Given the description of an element on the screen output the (x, y) to click on. 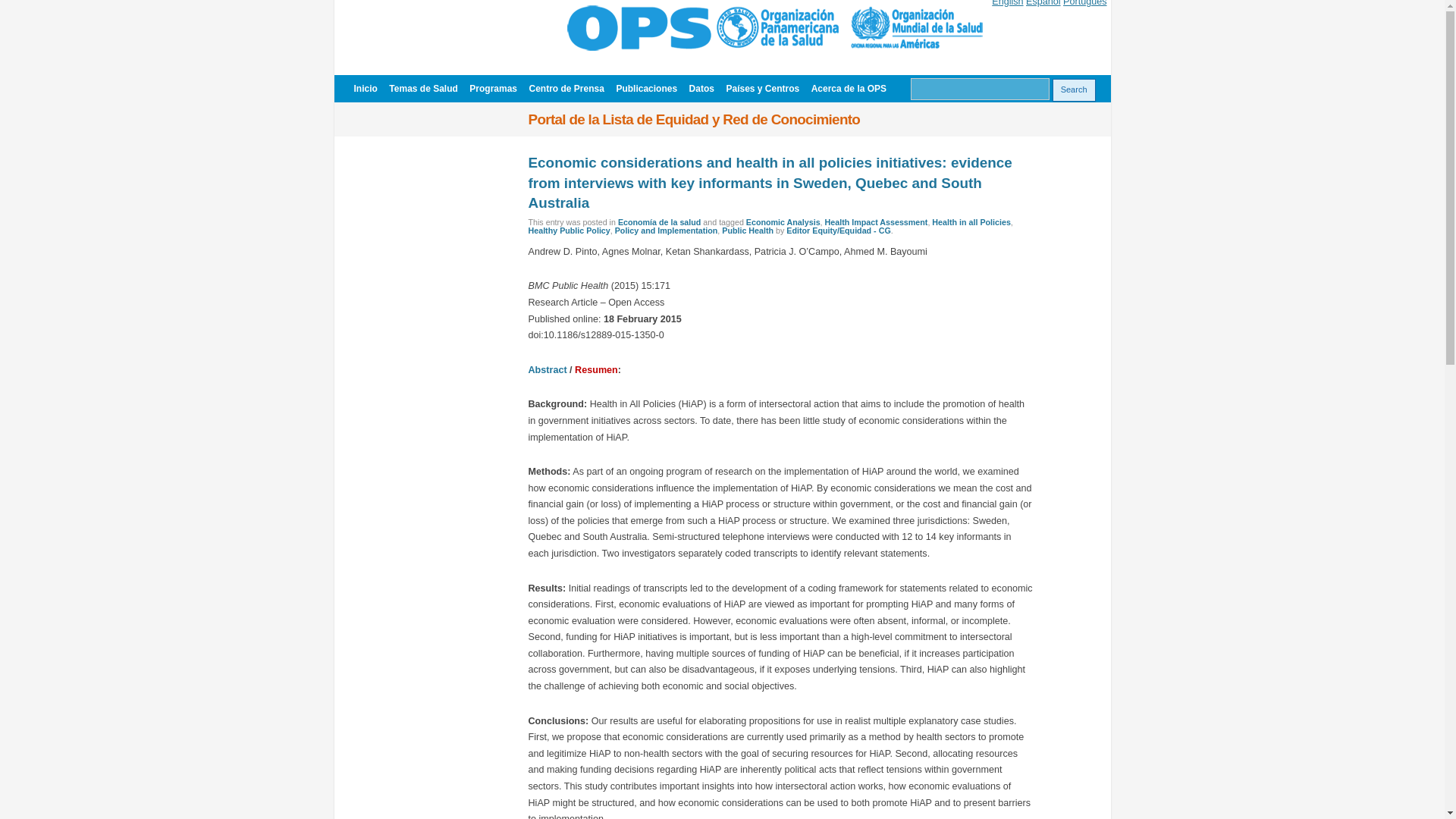
Search (1074, 89)
English (1007, 3)
Publicaciones (646, 88)
Centro de Prensa (566, 88)
Public Health (747, 230)
Acerca de la OPS (848, 88)
Policy and Implementation (665, 230)
Search (1074, 89)
Economic Analysis (783, 221)
Health in all Policies (970, 221)
Healthy Public Policy (568, 230)
Virtual Health Library (775, 48)
Datos (701, 88)
Temas de Salud (422, 88)
Programas (492, 88)
